Given the description of an element on the screen output the (x, y) to click on. 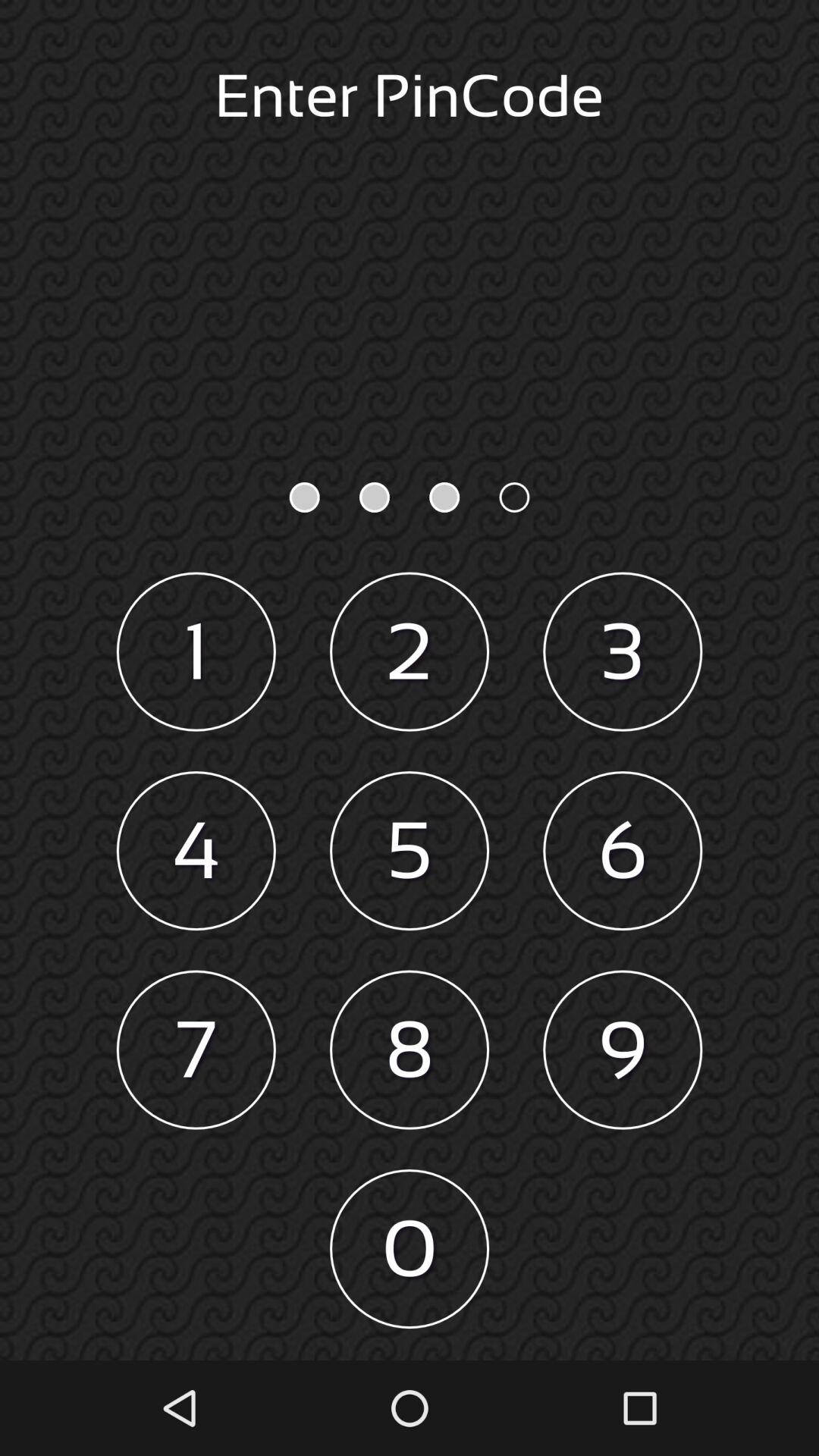
click the icon to the left of 6 item (409, 850)
